Given the description of an element on the screen output the (x, y) to click on. 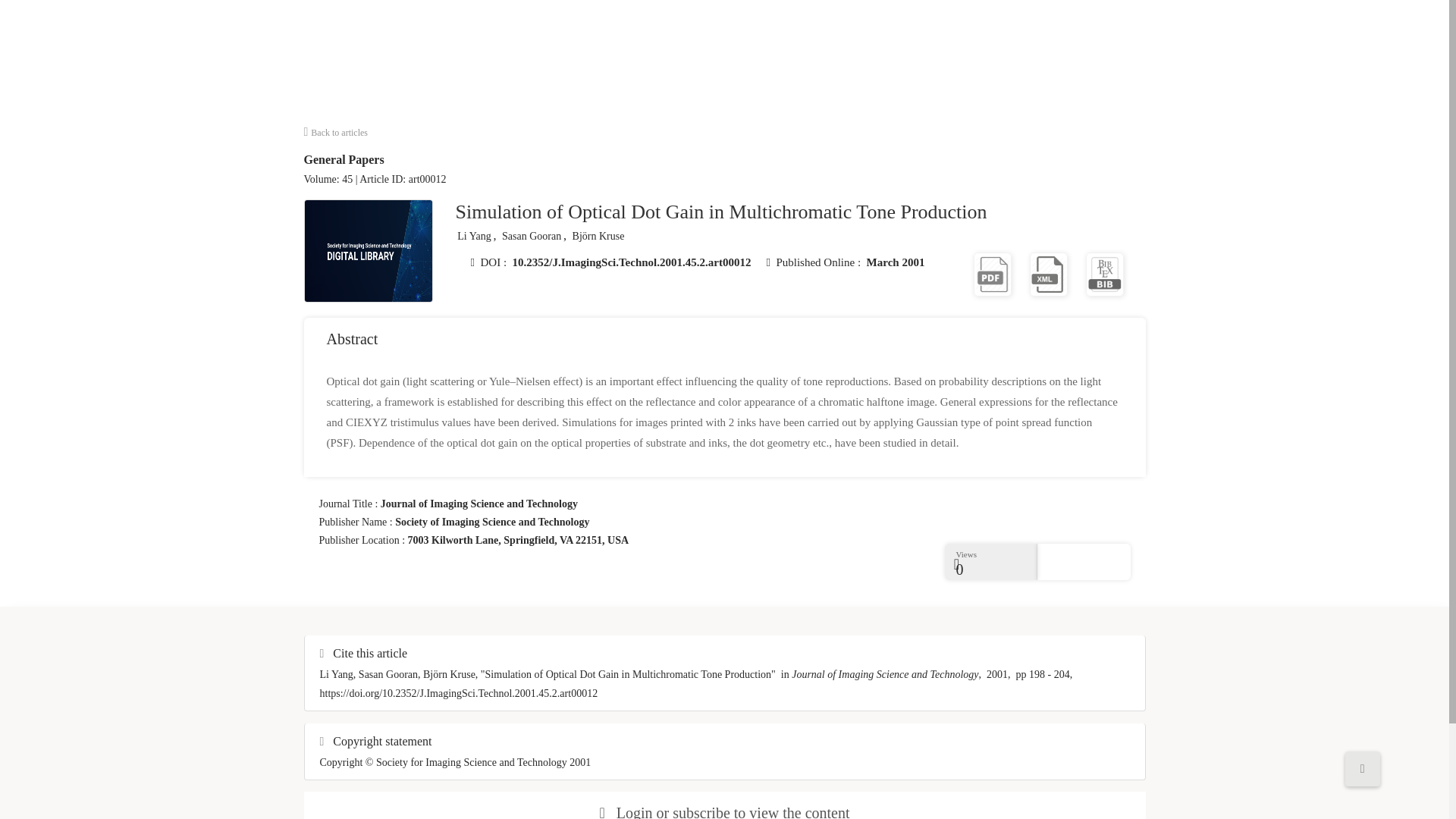
Subscribe to download (992, 273)
subscribe (701, 811)
No article cover image (368, 250)
Login (633, 811)
Subscribe to download (1048, 273)
Subscribe to download (1105, 273)
